Given the description of an element on the screen output the (x, y) to click on. 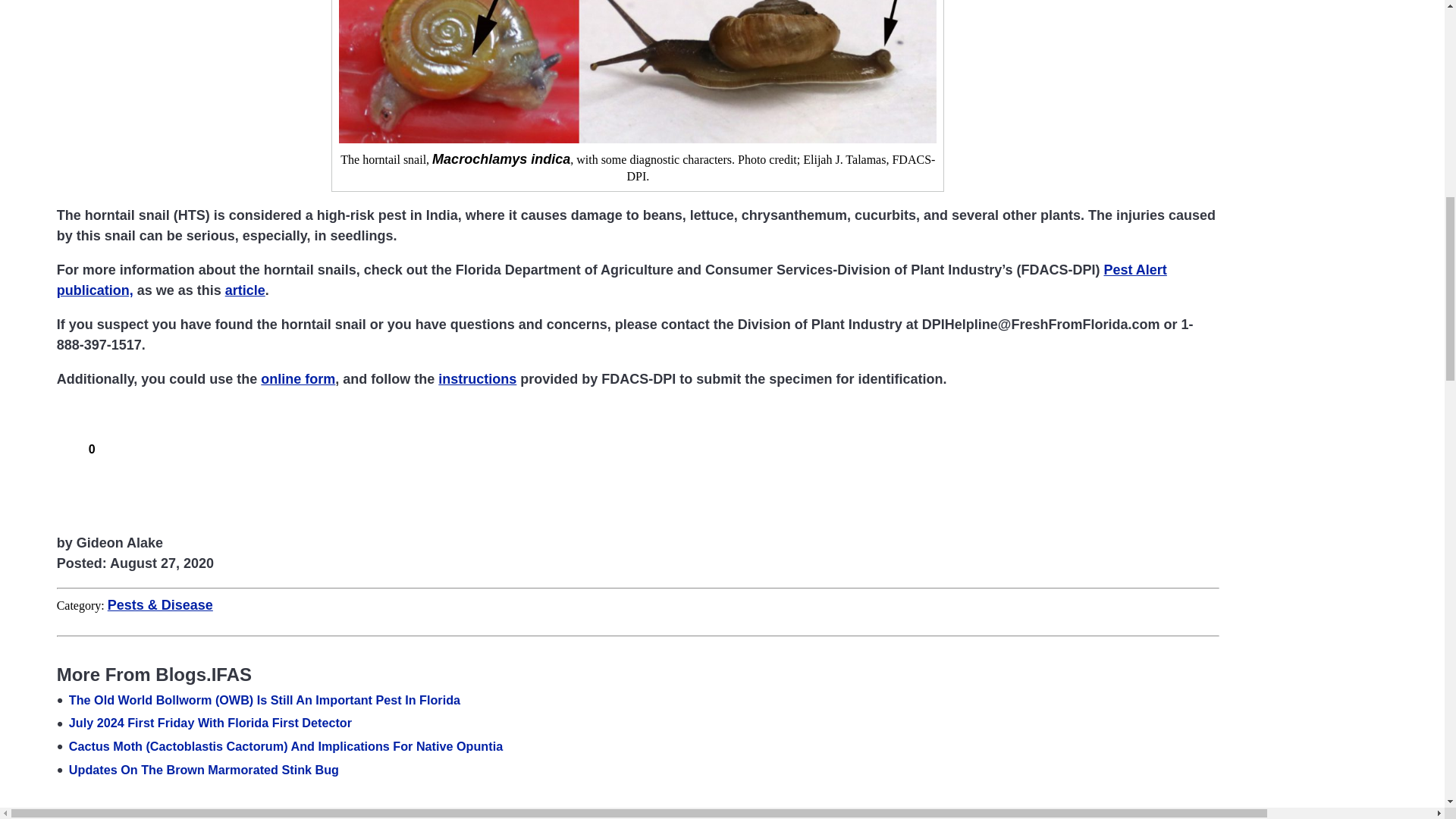
I found this post helpful (65, 446)
